Given the description of an element on the screen output the (x, y) to click on. 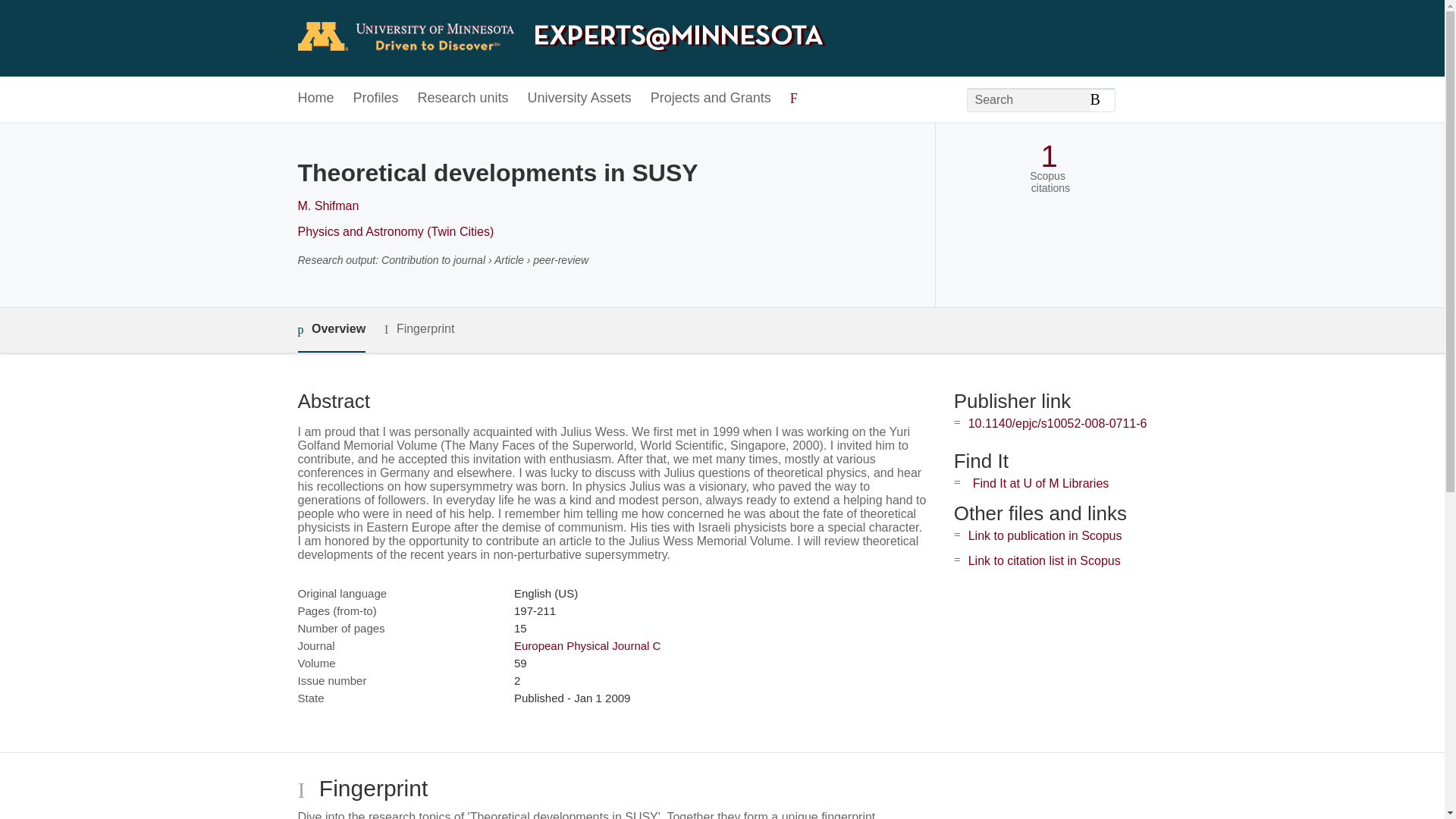
Profiles (375, 98)
M. Shifman (327, 205)
Fingerprint (419, 329)
Link to publication in Scopus (1045, 535)
Research units (462, 98)
European Physical Journal C (587, 645)
Overview (331, 329)
Projects and Grants (710, 98)
Find It at U of M Libraries (1040, 482)
Link to citation list in Scopus (1044, 560)
University Assets (579, 98)
